Given the description of an element on the screen output the (x, y) to click on. 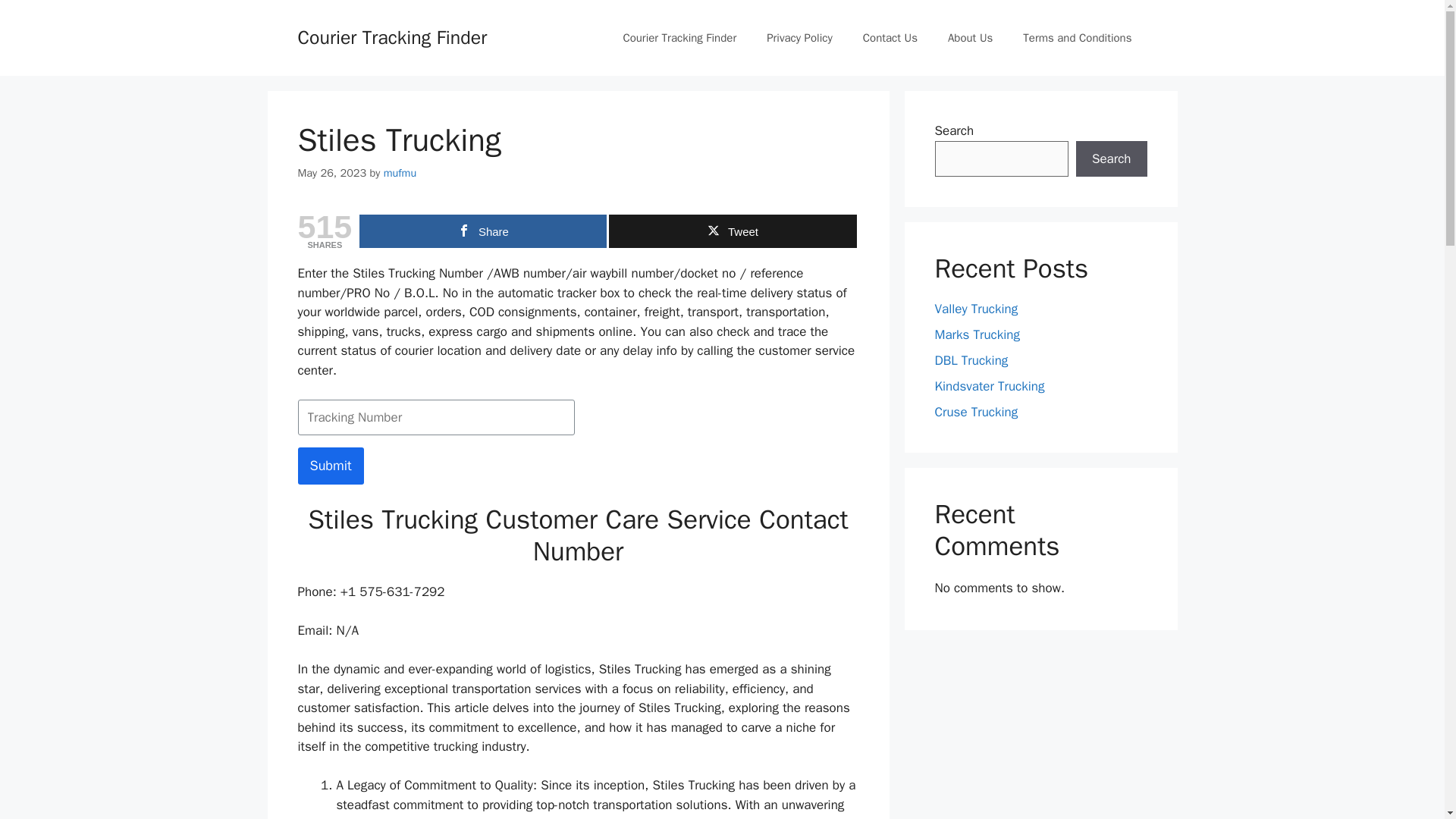
Courier Tracking Finder (391, 37)
Kindsvater Trucking (988, 385)
DBL Trucking (970, 360)
Share (483, 231)
Tweet (732, 231)
Privacy Policy (799, 37)
mufmu (400, 172)
About Us (970, 37)
Marks Trucking (976, 334)
Courier Tracking Finder (679, 37)
View all posts by mufmu (400, 172)
Contact Us (890, 37)
Search (1111, 158)
Valley Trucking (975, 308)
Submit (329, 465)
